Given the description of an element on the screen output the (x, y) to click on. 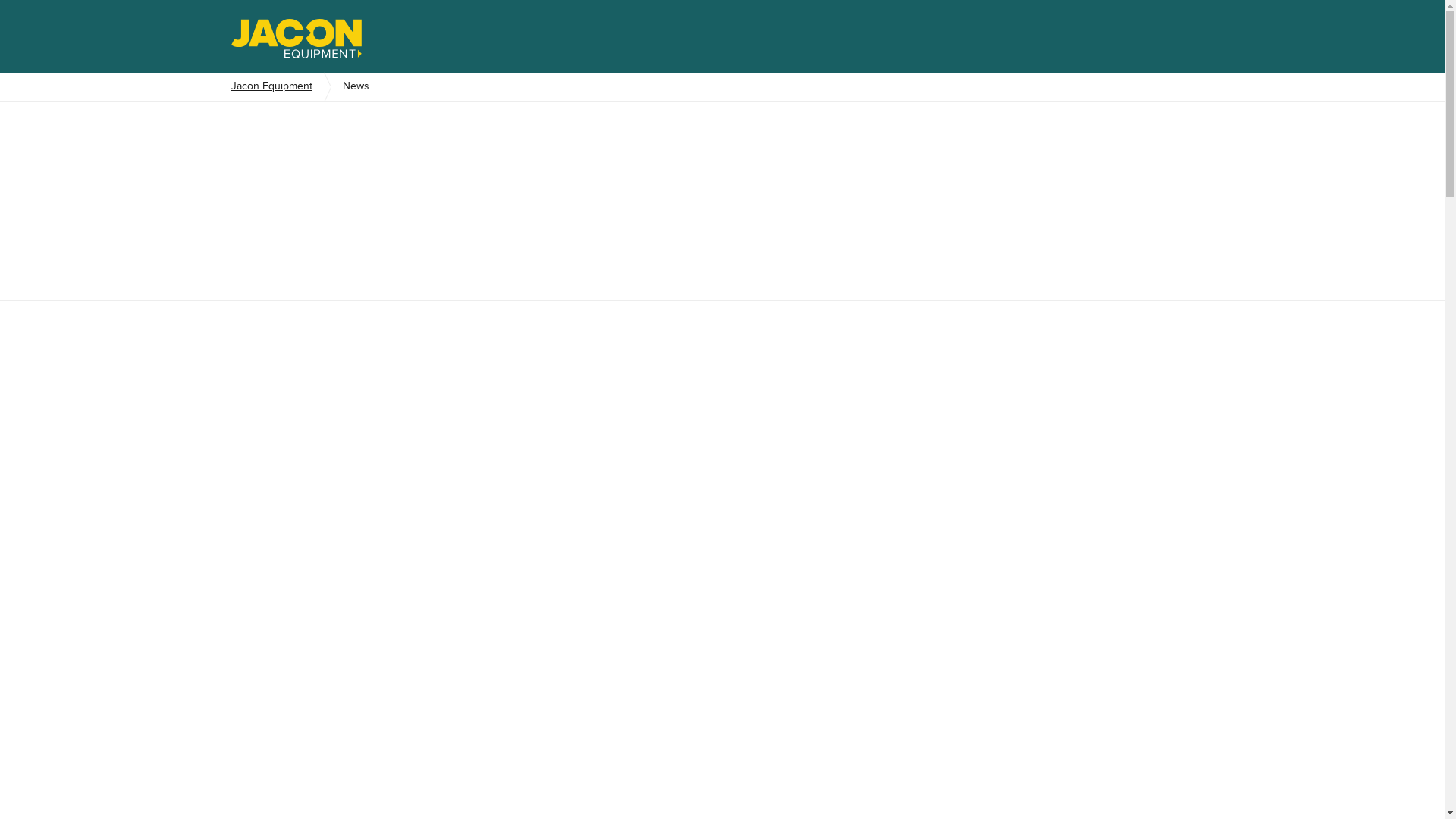
RENTAL Element type: text (636, 158)
Jacon Equipment Element type: text (279, 86)
J-CARE Element type: text (274, 158)
EQUIPMENT Element type: text (277, 112)
CONTACT Element type: text (1173, 184)
NEWS Element type: text (1183, 158)
ABOUT Element type: text (1180, 79)
